Given the description of an element on the screen output the (x, y) to click on. 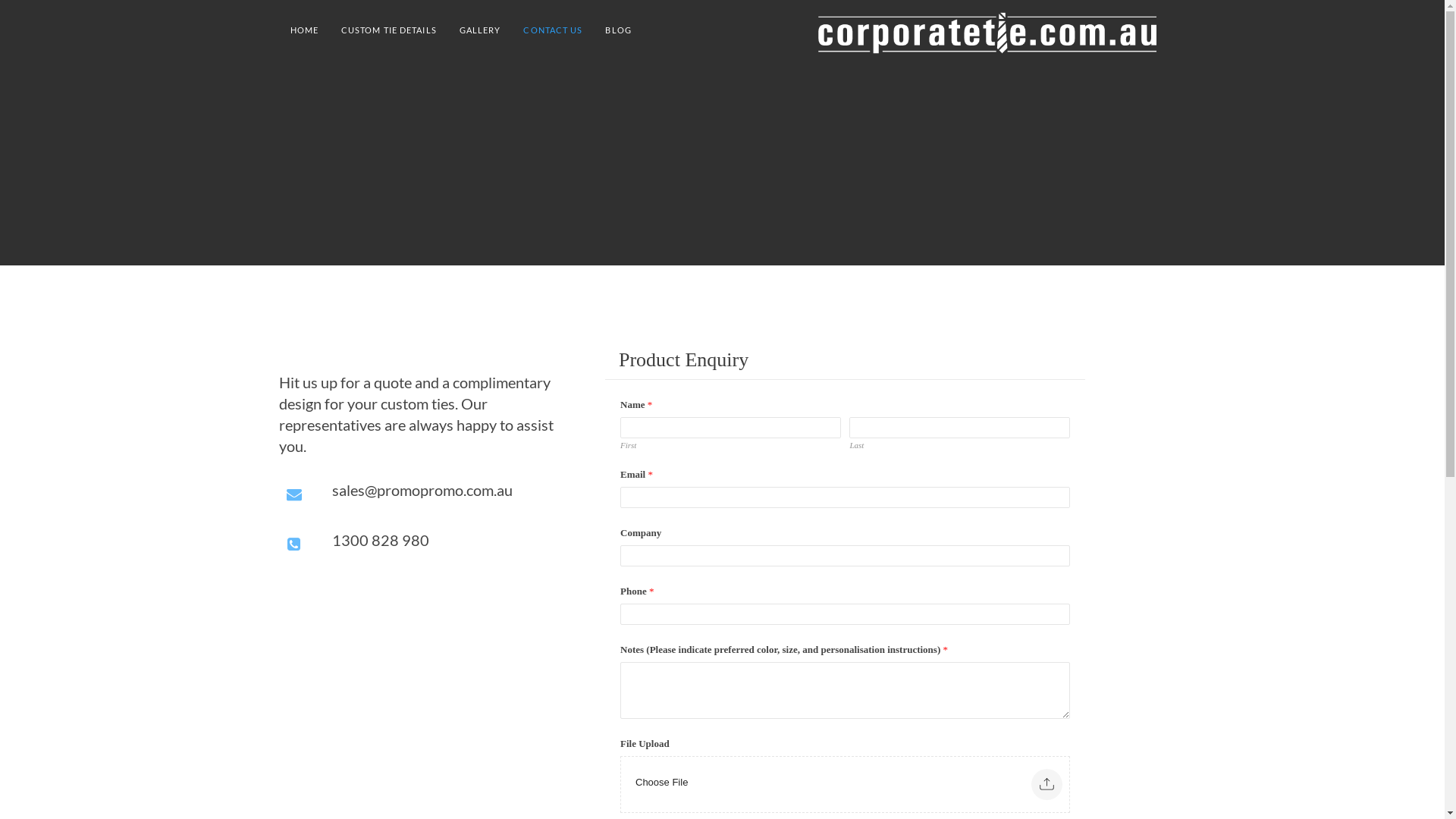
CUSTOM TIE DETAILS Element type: text (388, 30)
GALLERY Element type: text (480, 30)
HOME Element type: text (303, 30)
Custom Ties Element type: hover (987, 30)
CONTACT US Element type: text (552, 30)
sales@promopromo.com.au Element type: text (445, 489)
BLOG Element type: text (617, 30)
1300 828 980 Element type: text (445, 539)
